Given the description of an element on the screen output the (x, y) to click on. 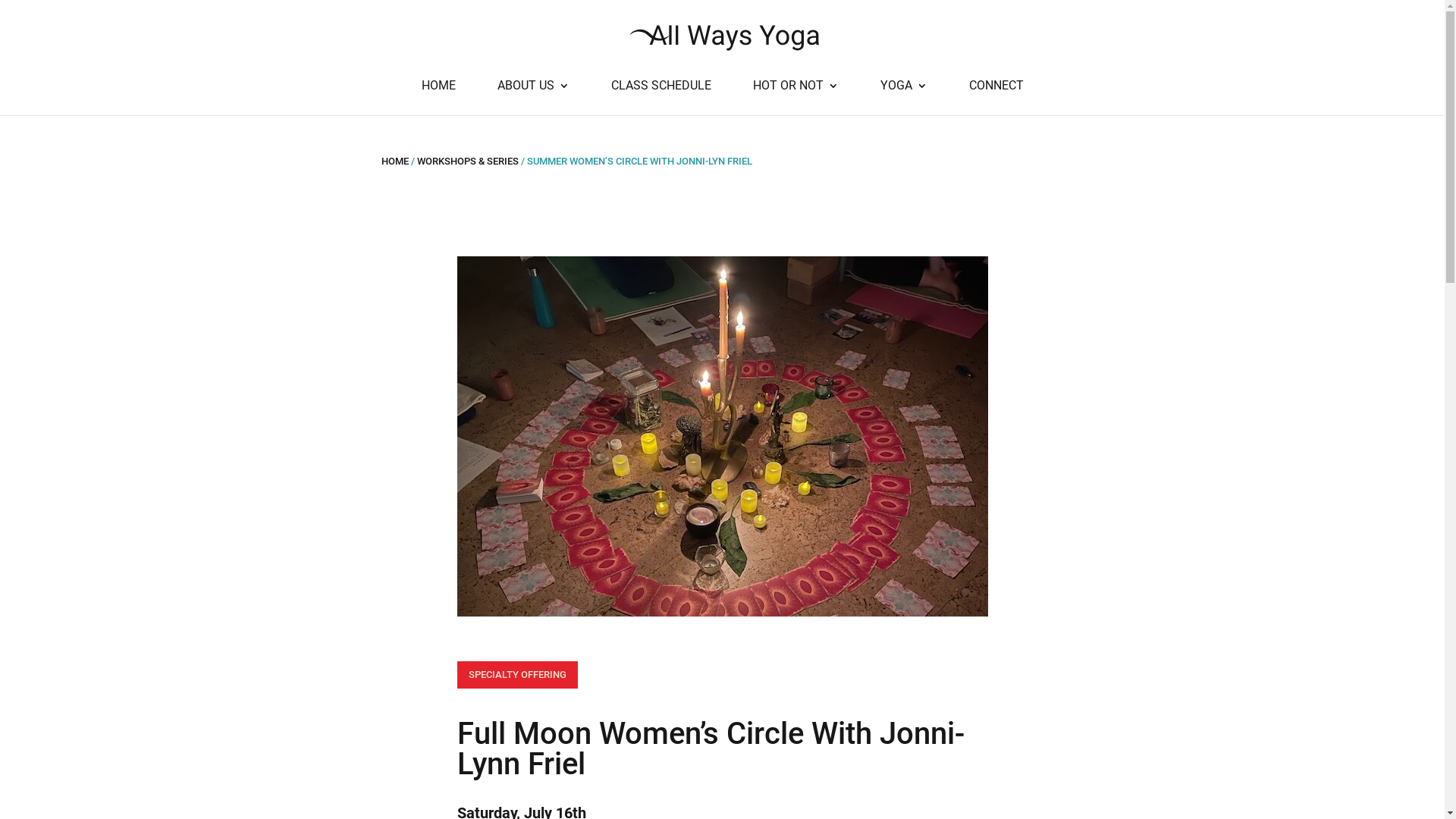
CONNECT Element type: text (996, 97)
HOME Element type: text (438, 97)
ABOUT US Element type: text (533, 97)
CLASS SCHEDULE Element type: text (661, 97)
WORKSHOPS & SERIES Element type: text (467, 160)
HOT OR NOT Element type: text (794, 97)
womens-circle-header Element type: hover (721, 436)
HOME Element type: text (393, 160)
YOGA Element type: text (902, 97)
